Given the description of an element on the screen output the (x, y) to click on. 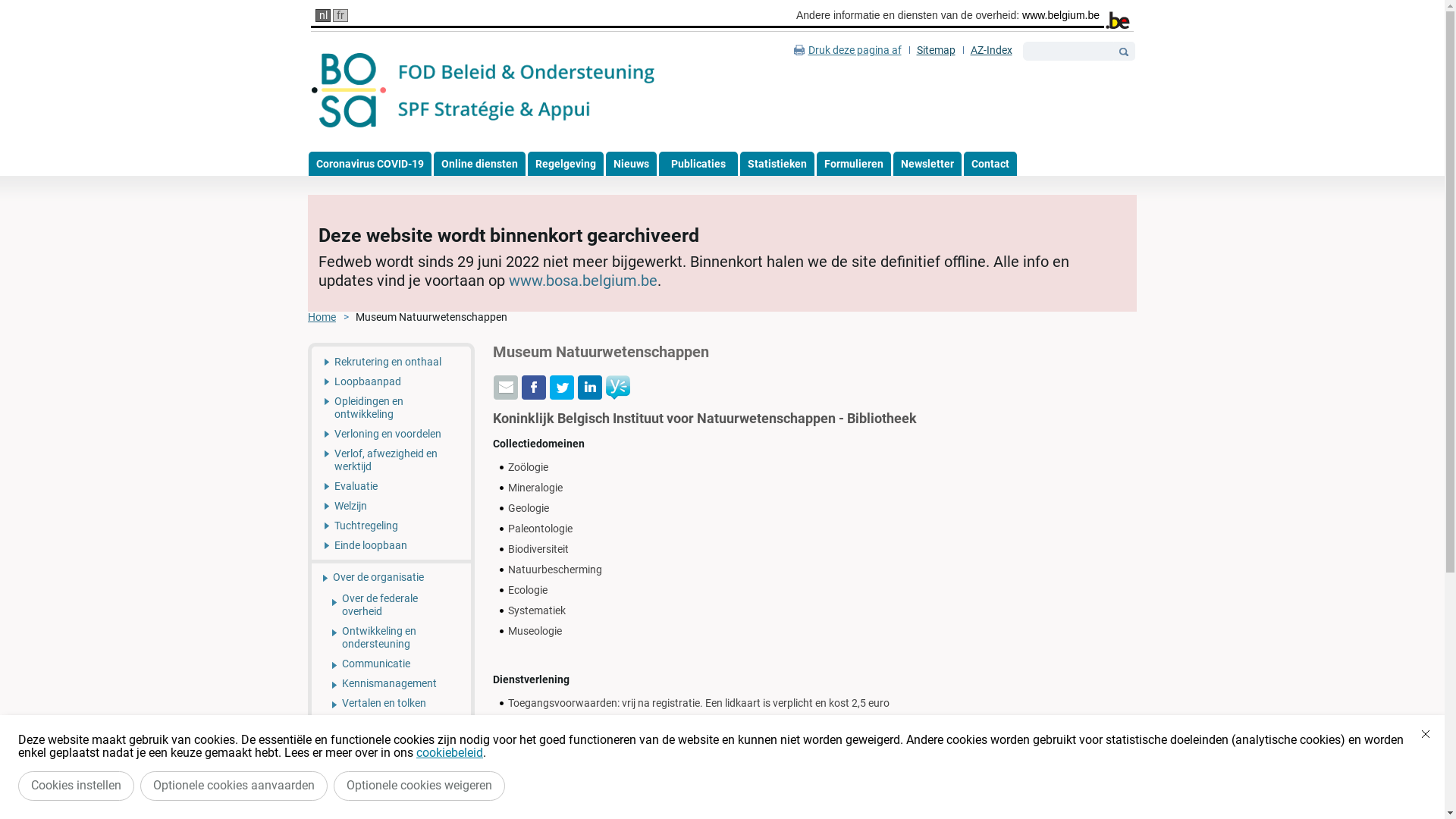
AZ-Index Element type: text (991, 49)
Opleidingen en ontwikkeling Element type: text (390, 407)
Vertalen en tolken Element type: text (390, 702)
Ontwikkeling en ondersteuning Element type: text (390, 637)
Formulieren Element type: text (852, 163)
Druk deze pagina af Element type: text (847, 49)
Budgettering en overheidsopdrachten Element type: text (390, 748)
Einde loopbaan Element type: text (390, 547)
Tuchtregeling Element type: text (390, 525)
Regelgeving Element type: text (565, 163)
Rekrutering en onthaal Element type: text (390, 358)
Contact Element type: text (989, 163)
Home Element type: text (331, 316)
PersoPoint Element type: text (390, 722)
Coronavirus COVID-19 Element type: text (368, 163)
Sluiten Element type: hover (1425, 733)
Kennismanagement Element type: text (390, 683)
Nieuws Element type: text (630, 163)
www.bosa.belgium.be Element type: text (582, 280)
Optionele cookies aanvaarden Element type: text (233, 785)
Evaluatie Element type: text (390, 485)
Welzijn Element type: text (390, 505)
Communicatie Element type: text (390, 663)
Verlof, afwezigheid en werktijd Element type: text (390, 459)
ICT Element type: text (390, 777)
Newsletter Element type: text (927, 163)
Skip to main content Element type: text (48, 0)
Cookies instellen Element type: text (76, 785)
Optionele cookies weigeren Element type: text (419, 785)
nl Element type: text (322, 15)
Over de federale overheid Element type: text (390, 604)
Terug naar de Fedweb homepage Element type: hover (483, 90)
Over de organisatie Element type: text (390, 575)
Verloning en voordelen Element type: text (390, 433)
Loopbaanpad Element type: text (390, 381)
cookiebeleid Element type: text (449, 752)
Statistieken Element type: text (777, 163)
Sitemap Element type: text (935, 49)
Publicaties Element type: text (697, 163)
www.belgium.be Element type: text (1060, 15)
Zoeken Element type: text (1123, 50)
Online diensten Element type: text (479, 163)
fr Element type: text (340, 15)
